Given the description of an element on the screen output the (x, y) to click on. 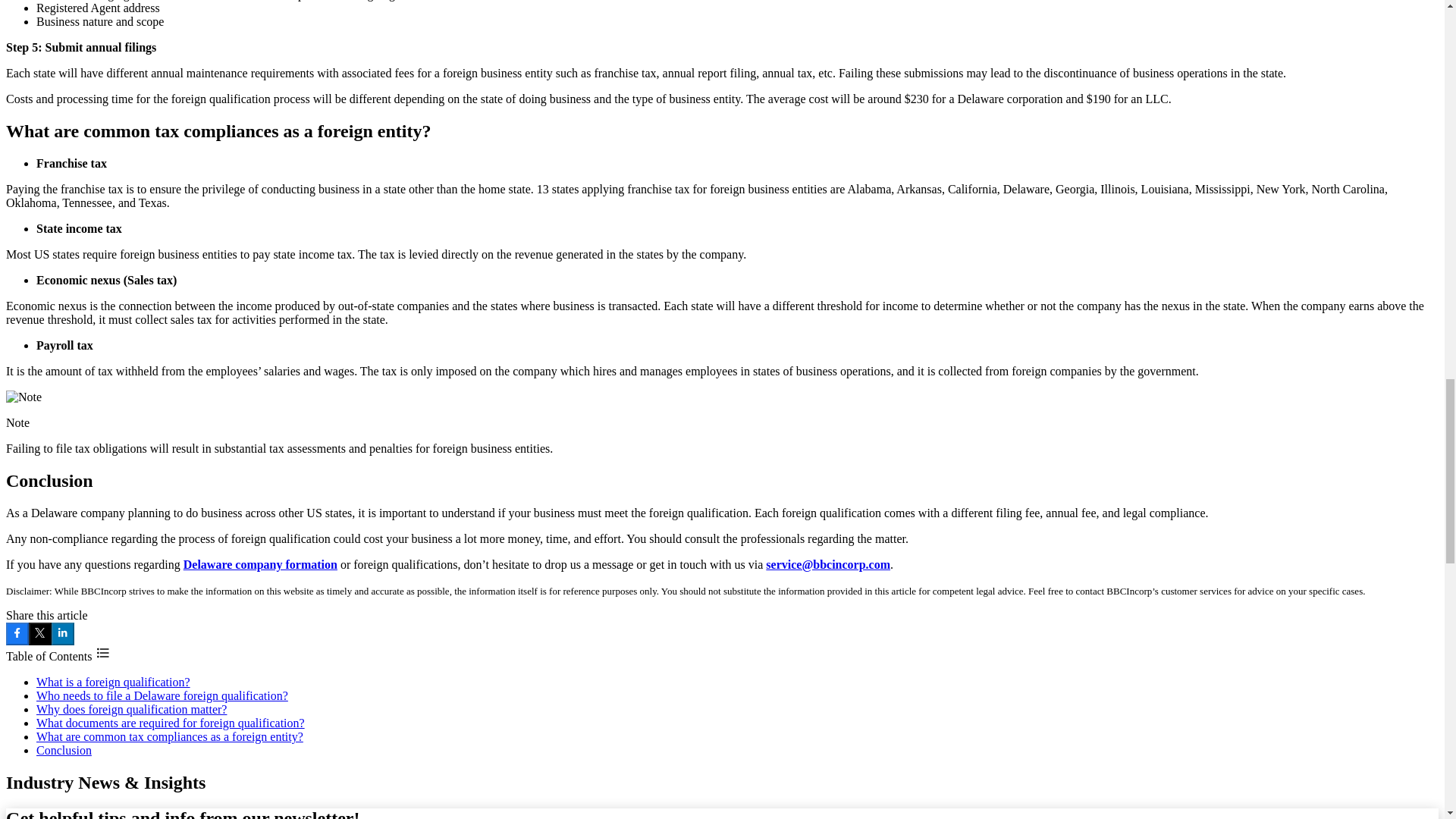
Conclusion (63, 749)
Why does foreign qualification matter? (131, 708)
Who needs to file a Delaware foreign qualification? (162, 695)
What are common tax compliances as a foreign entity? (169, 736)
What documents are required for foreign qualification? (170, 722)
What is a foreign qualification? (113, 681)
Delaware company formation (260, 563)
